Given the description of an element on the screen output the (x, y) to click on. 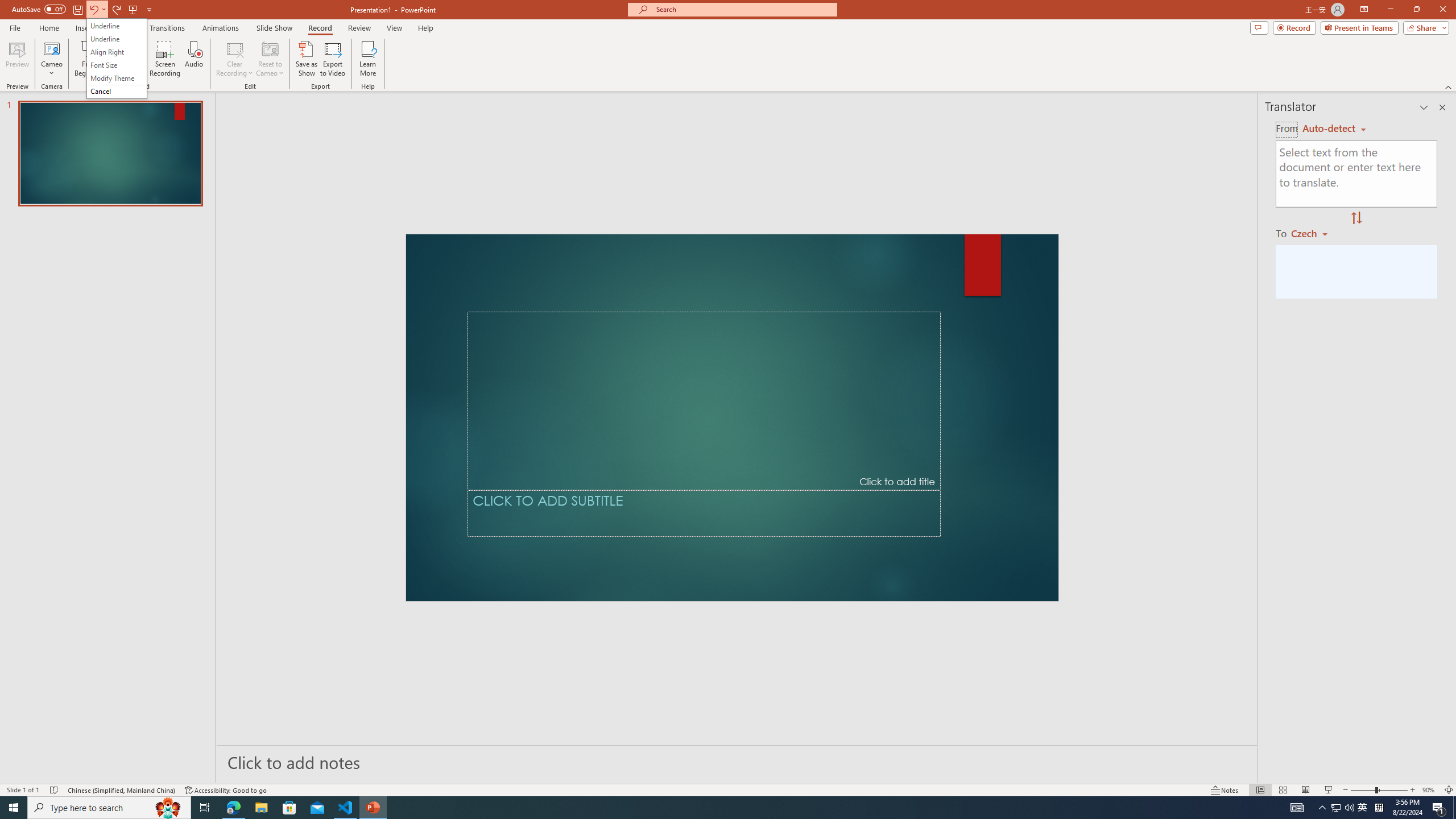
Action Center, 1 new notification (1439, 807)
Learn More (368, 58)
